Given the description of an element on the screen output the (x, y) to click on. 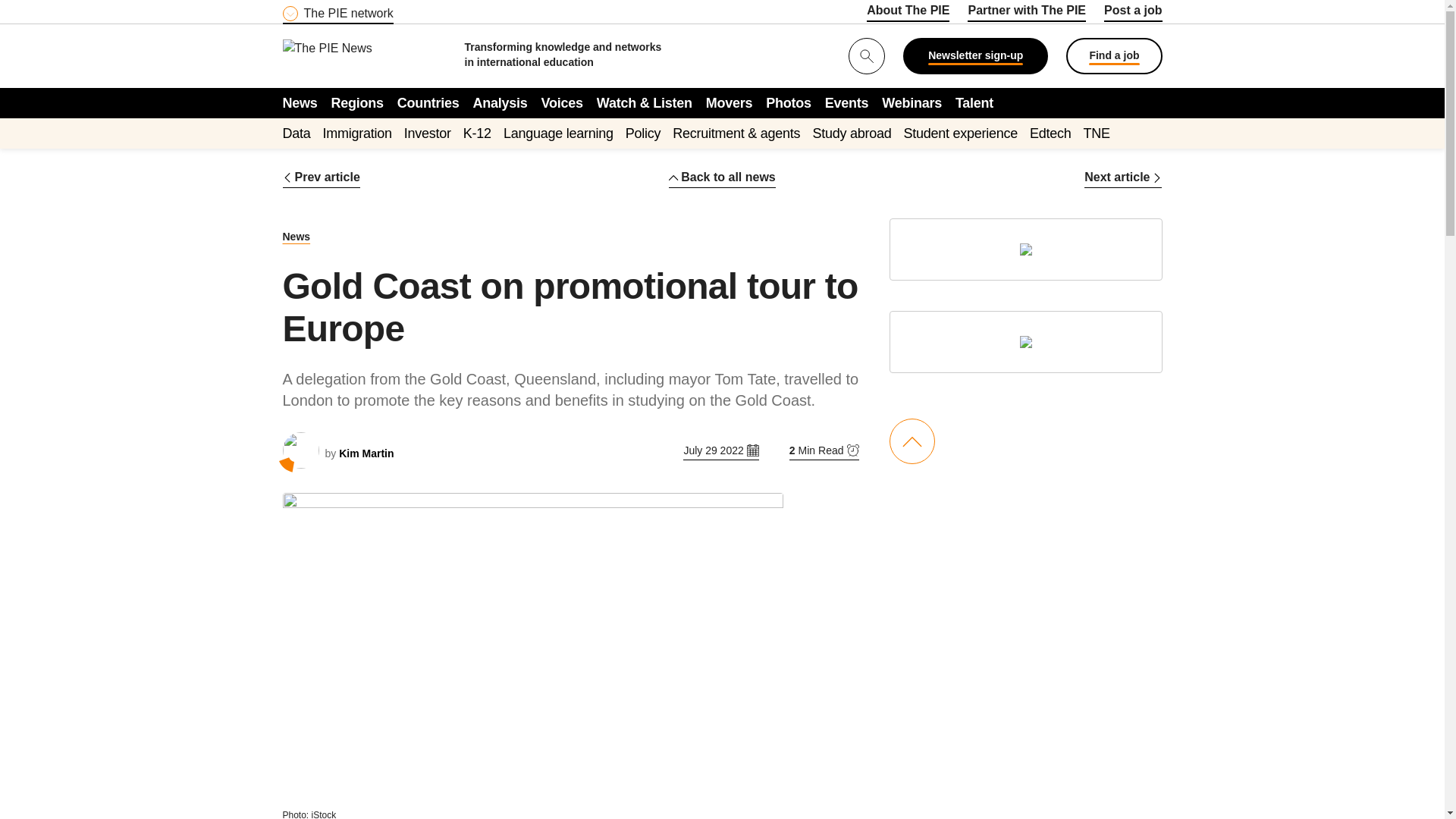
Data (296, 132)
Edtech (1050, 132)
About The PIE (907, 13)
Language learning (557, 132)
Immigration (357, 132)
Partner with The PIE (1027, 13)
Post a job (1132, 13)
Investor (427, 132)
Study abroad (851, 132)
K-12 (477, 132)
Countries (428, 102)
Find a job (1113, 55)
Content (373, 9)
Student experience (959, 132)
